Given the description of an element on the screen output the (x, y) to click on. 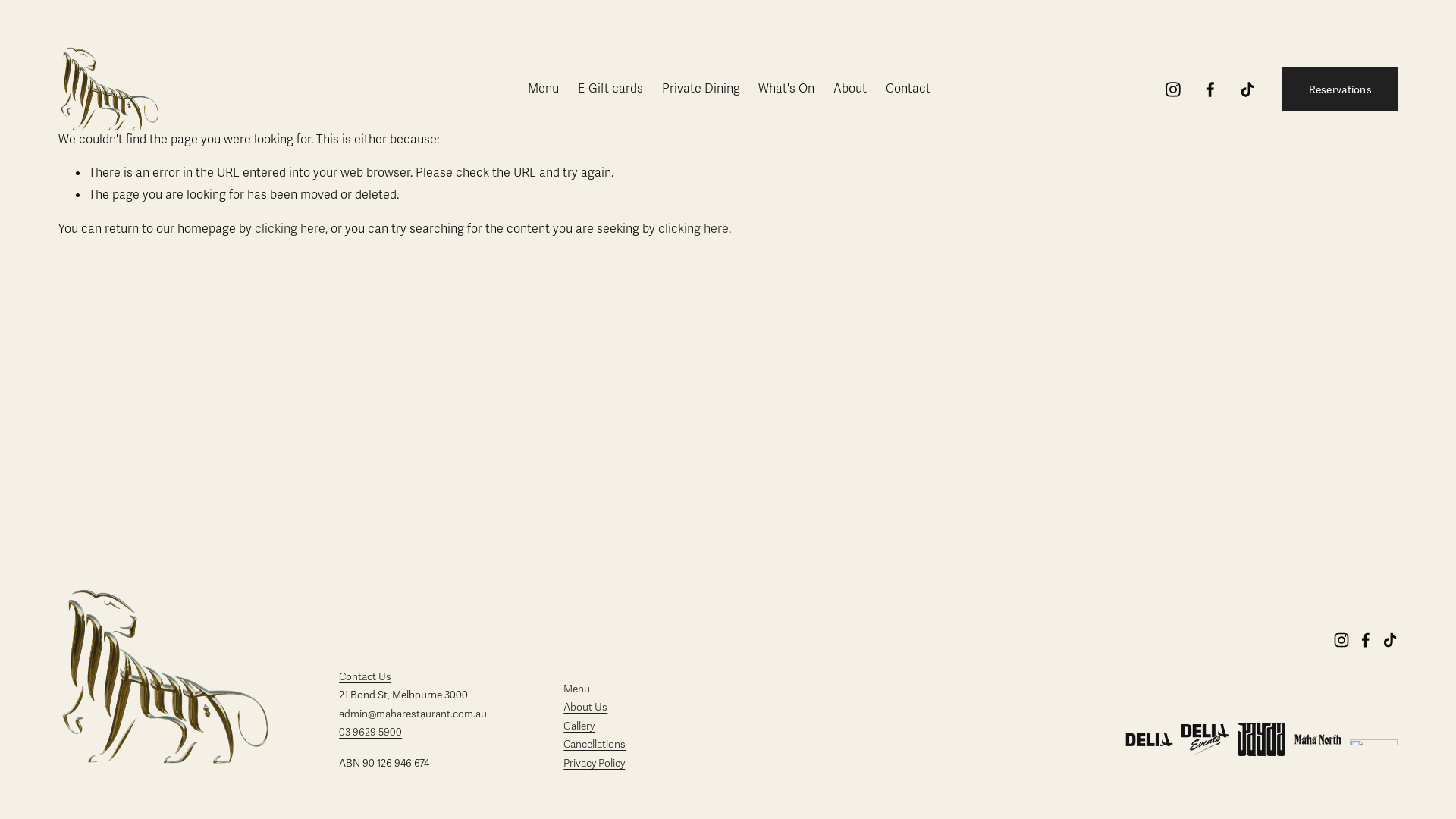
Menu Element type: text (542, 89)
About Us Element type: text (585, 706)
Menu Element type: text (576, 688)
Contact Us Element type: text (364, 676)
clicking here Element type: text (693, 228)
clicking here Element type: text (289, 228)
Gallery Element type: text (578, 725)
Cancellations Element type: text (594, 743)
Contact Element type: text (907, 89)
Private Dining Element type: text (700, 89)
Reservations Element type: text (1339, 88)
Privacy Policy Element type: text (593, 762)
What's On Element type: text (786, 89)
E-Gift cards Element type: text (610, 89)
03 9629 5900 Element type: text (369, 731)
About Element type: text (849, 89)
admin@maharestaurant.com.au Element type: text (412, 713)
